Given the description of an element on the screen output the (x, y) to click on. 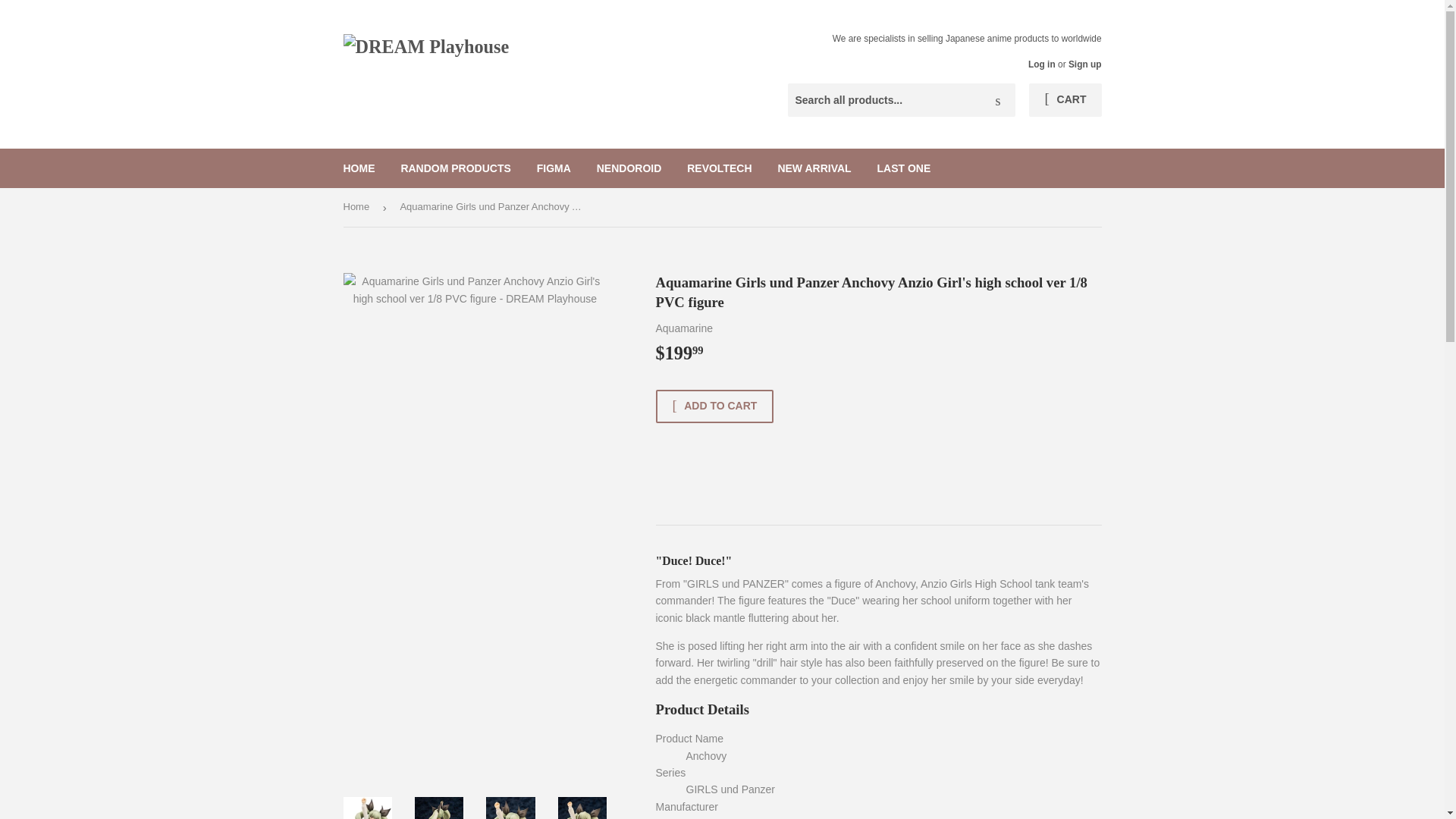
ADD TO CART (714, 406)
CART (1064, 100)
LAST ONE (904, 168)
RANDOM PRODUCTS (454, 168)
NENDOROID (628, 168)
HOME (359, 168)
Log in (1041, 63)
REVOLTECH (718, 168)
Sign up (1085, 63)
Search (997, 101)
NEW ARRIVAL (813, 168)
FIGMA (553, 168)
